Given the description of an element on the screen output the (x, y) to click on. 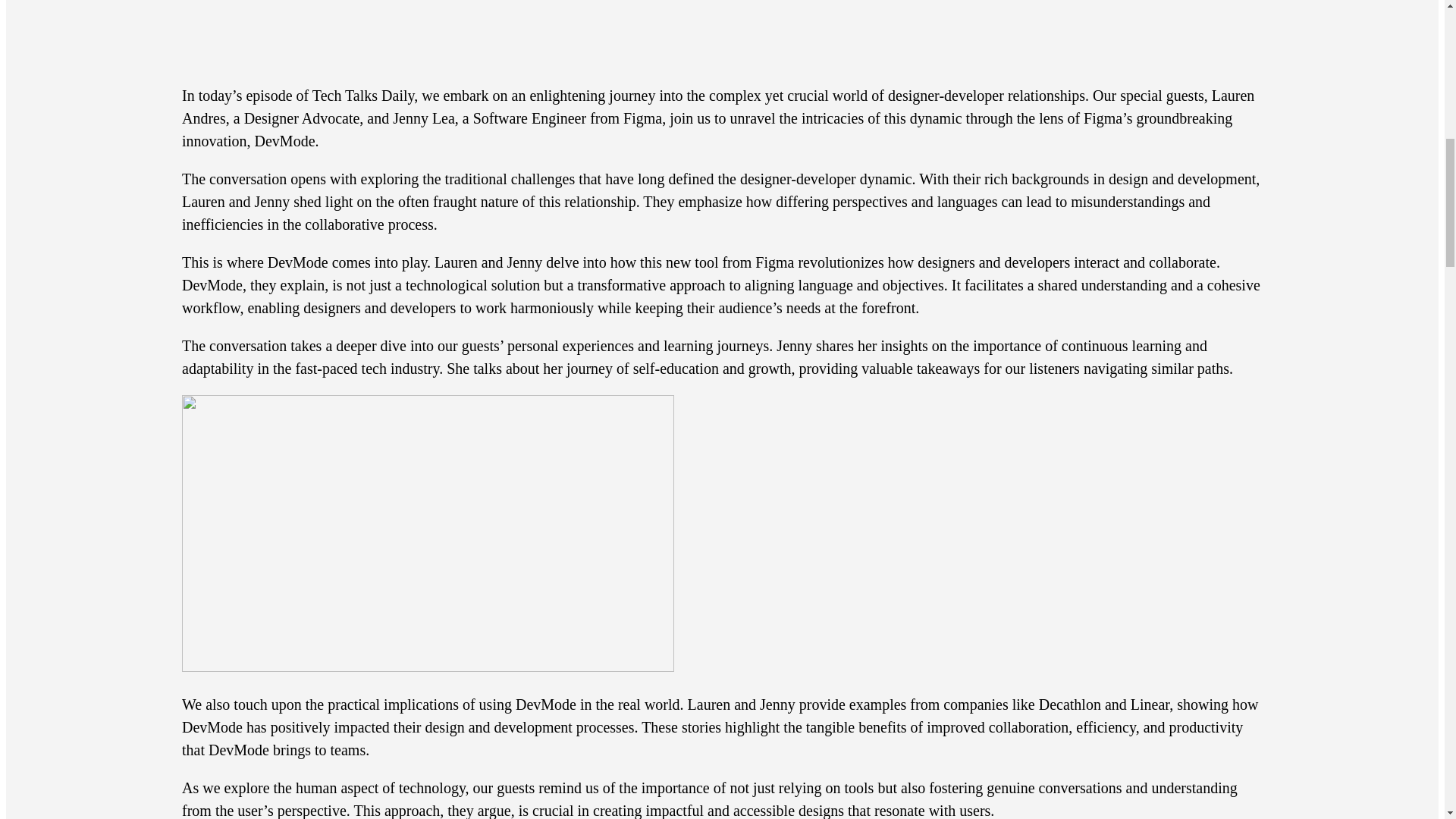
Embed Player (722, 31)
